Given the description of an element on the screen output the (x, y) to click on. 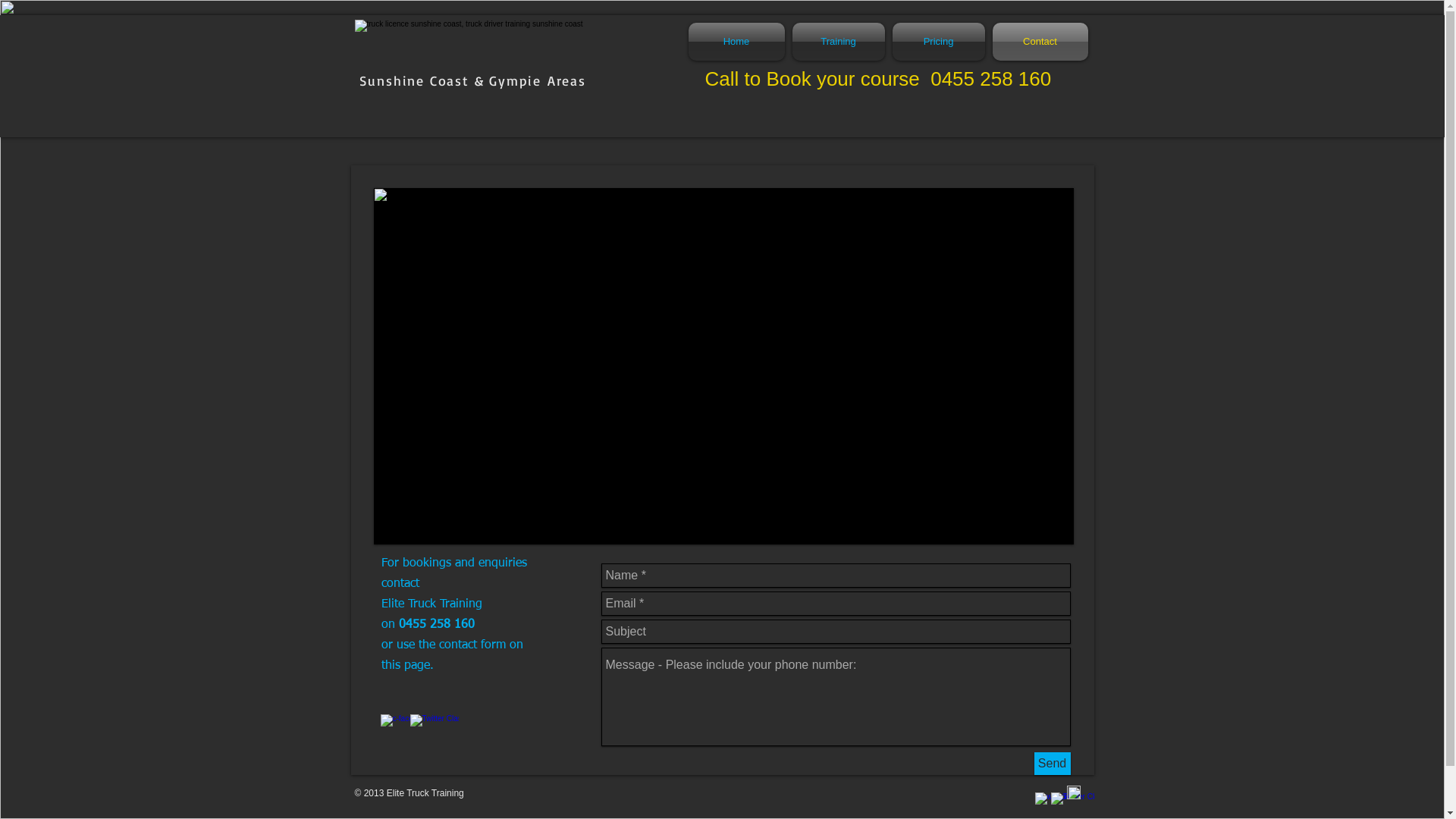
Home Element type: text (738, 41)
Truck Driver Training Sunshine Coast.jpg Element type: hover (723, 366)
Send Element type: text (1052, 763)
Training Element type: text (838, 41)
Contact Element type: text (1038, 41)
Pricing Element type: text (938, 41)
